Given the description of an element on the screen output the (x, y) to click on. 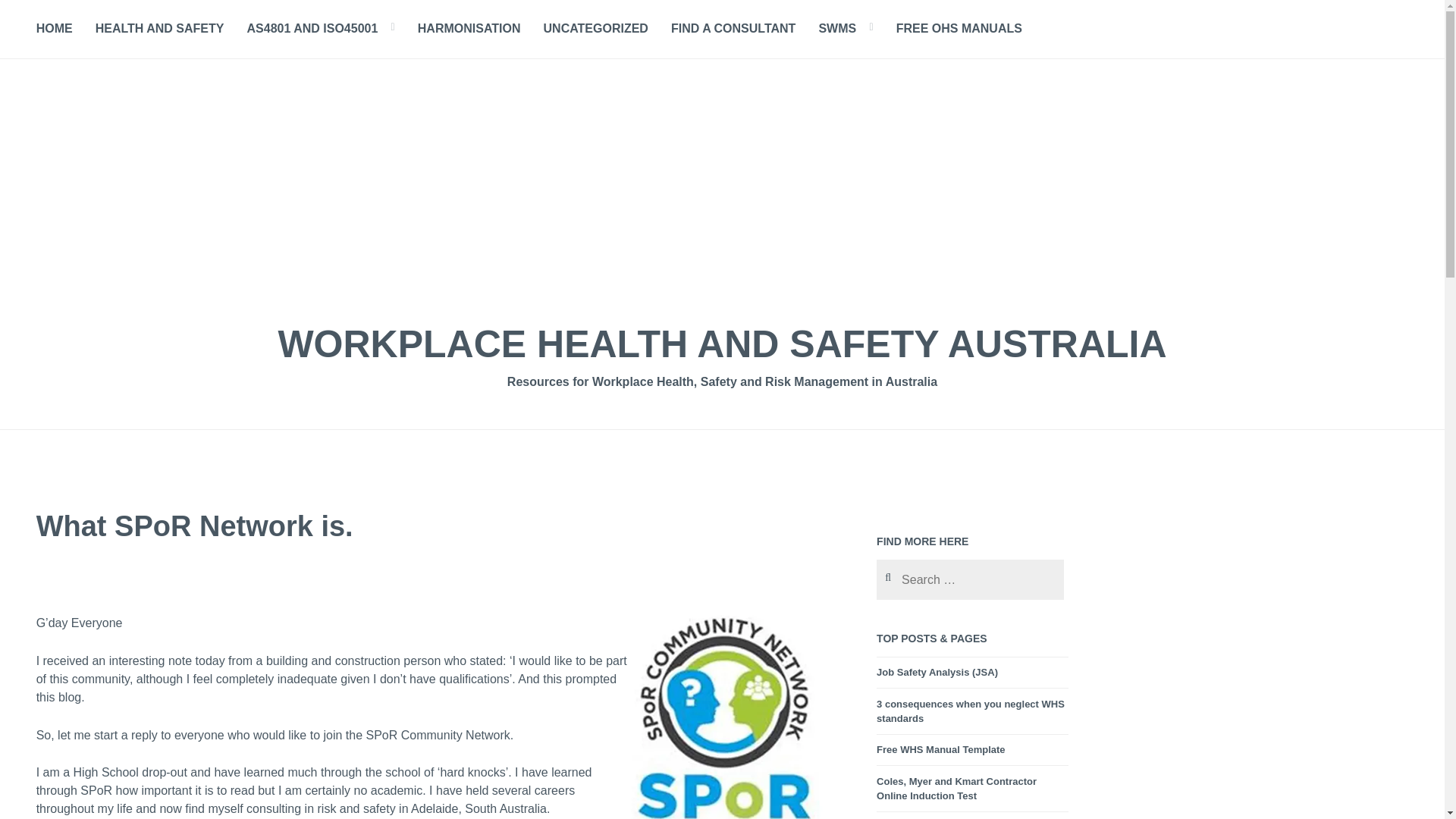
Search (33, 15)
FREE OHS MANUALS (959, 29)
WORKPLACE HEALTH AND SAFETY AUSTRALIA (722, 343)
FIND A CONSULTANT (732, 29)
3 consequences when you neglect WHS standards (970, 711)
HEALTH AND SAFETY (160, 29)
UNCATEGORIZED (595, 29)
image (727, 716)
HARMONISATION (469, 29)
Coles, Myer and Kmart Contractor Online Induction Test (956, 789)
SWMS (837, 29)
HOME (54, 29)
Free WHS Manual Template (941, 749)
AS4801 AND ISO45001 (312, 29)
